Given the description of an element on the screen output the (x, y) to click on. 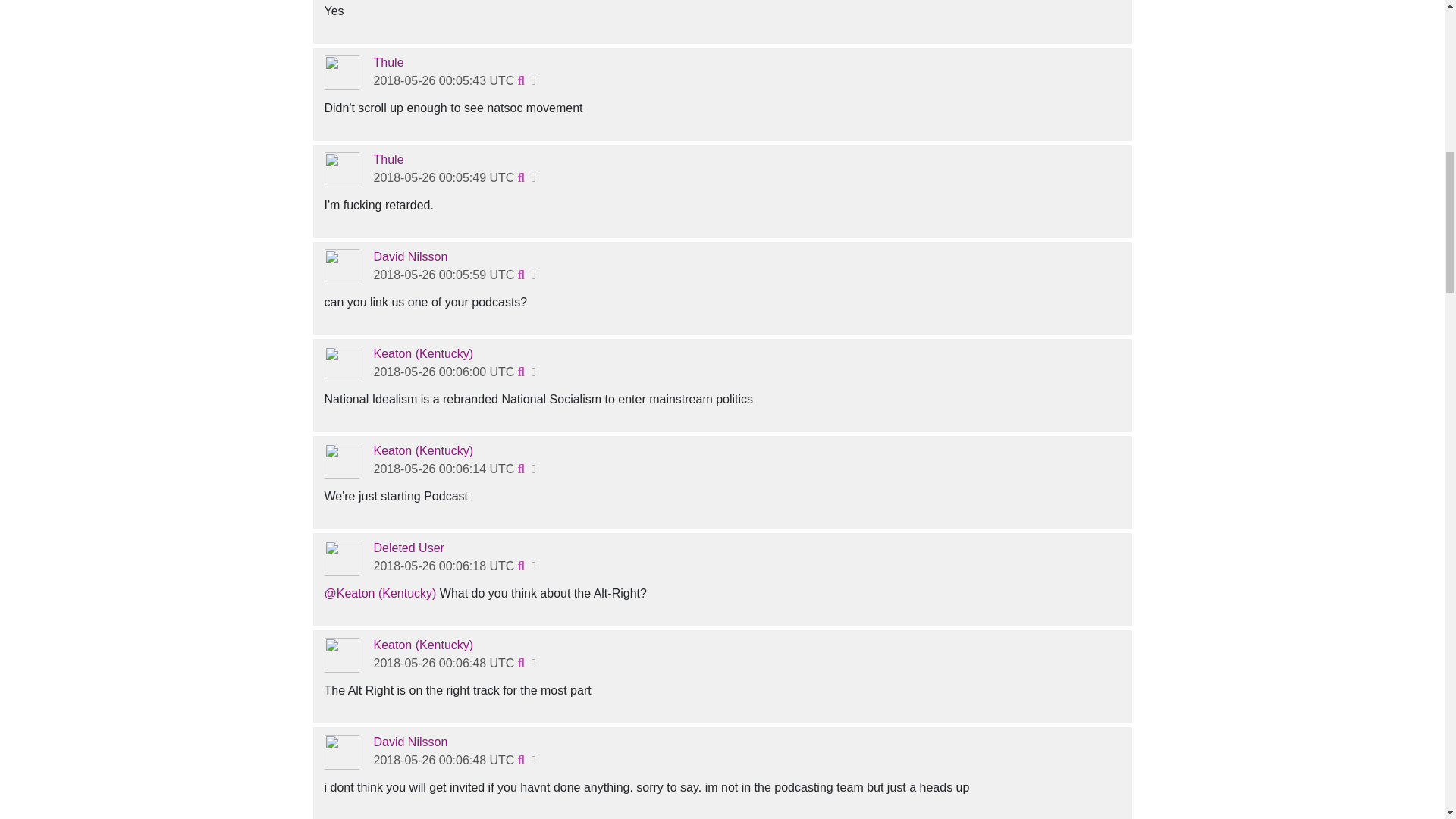
Thule (387, 62)
Thule (387, 159)
